Given the description of an element on the screen output the (x, y) to click on. 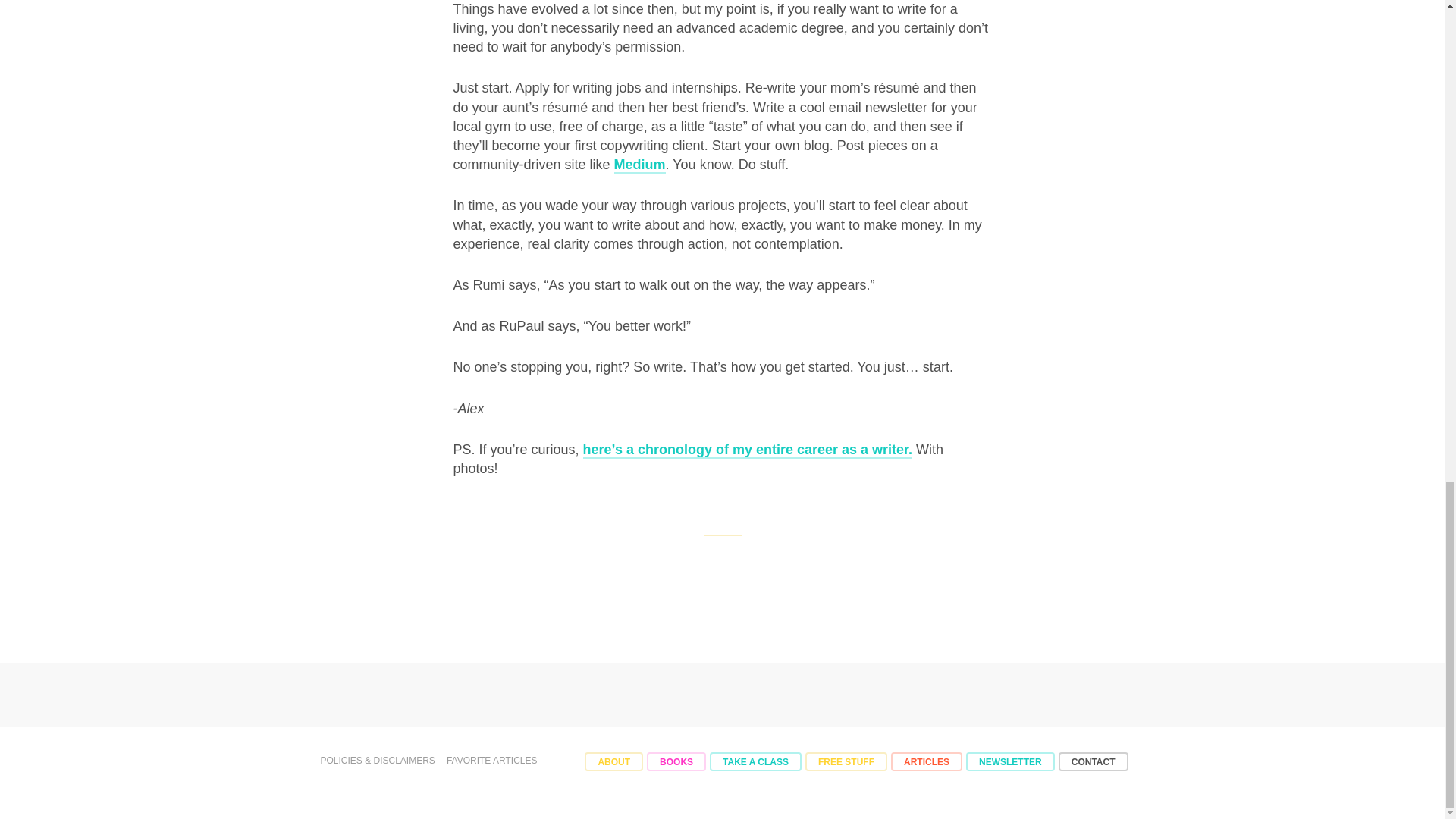
CONTACT (1093, 761)
FREE STUFF (845, 761)
ARTICLES (926, 761)
BOOKS (676, 761)
FAVORITE ARTICLES (491, 760)
TAKE A CLASS (756, 761)
NEWSLETTER (1010, 761)
NEWSLETTER (1010, 761)
Medium (639, 165)
ABOUT (614, 761)
